Given the description of an element on the screen output the (x, y) to click on. 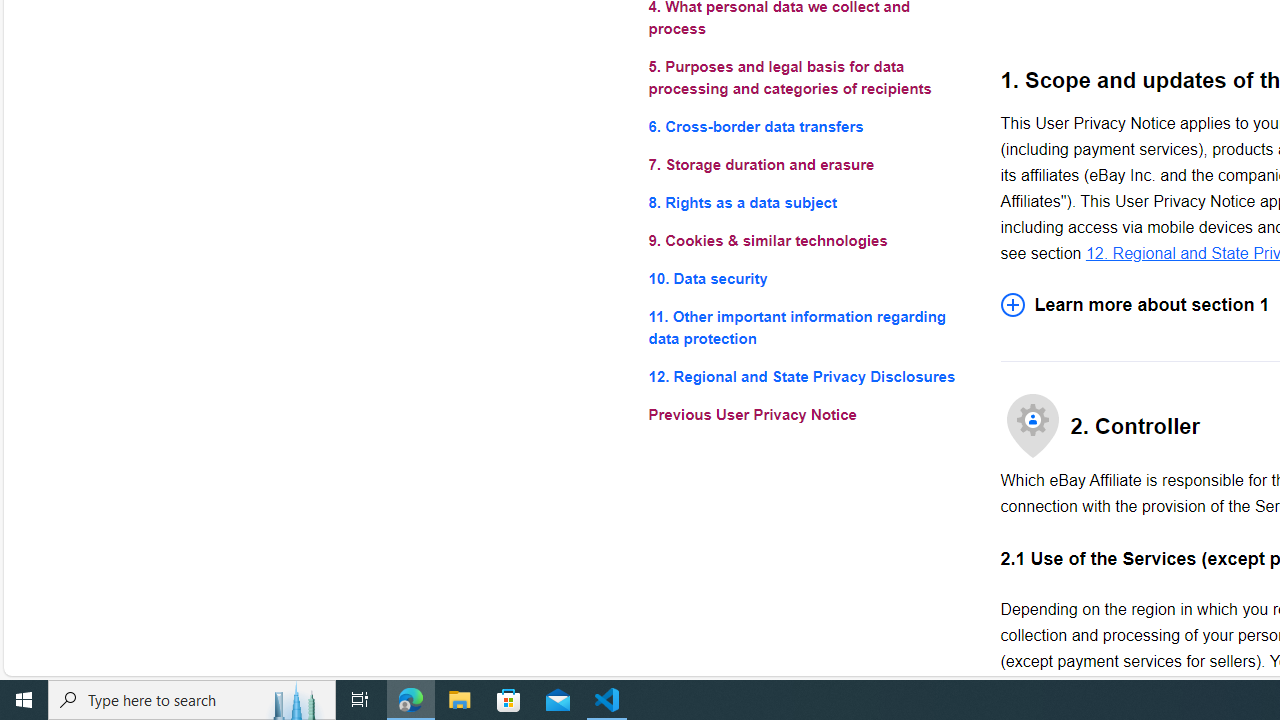
Previous User Privacy Notice (807, 414)
11. Other important information regarding data protection (807, 328)
12. Regional and State Privacy Disclosures (807, 376)
10. Data security (807, 278)
9. Cookies & similar technologies (807, 240)
11. Other important information regarding data protection (807, 328)
8. Rights as a data subject (807, 203)
9. Cookies & similar technologies (807, 240)
6. Cross-border data transfers (807, 126)
7. Storage duration and erasure (807, 164)
12. Regional and State Privacy Disclosures (807, 376)
6. Cross-border data transfers (807, 126)
8. Rights as a data subject (807, 203)
Previous User Privacy Notice (807, 414)
